Given the description of an element on the screen output the (x, y) to click on. 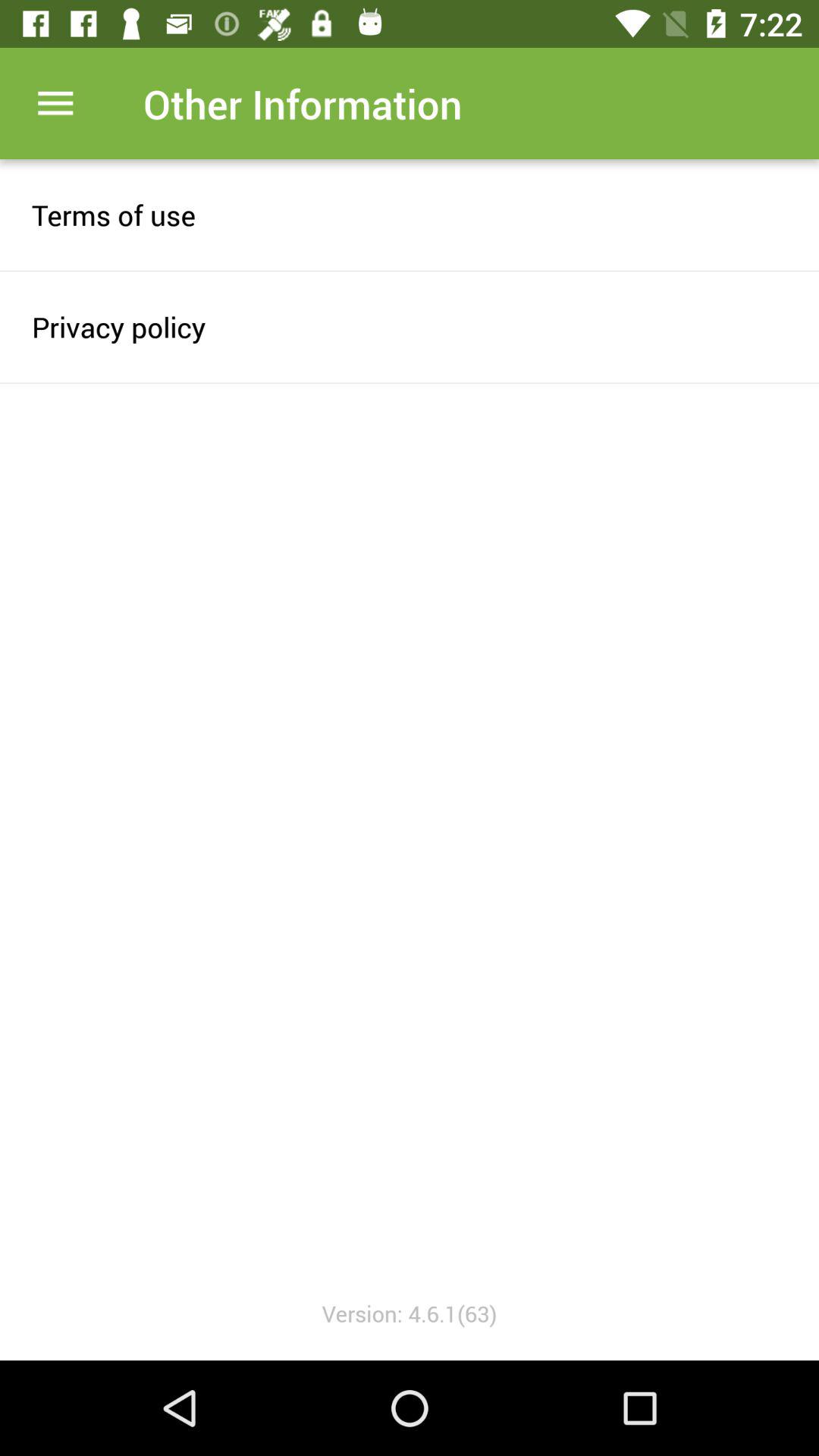
open item above the terms of use (55, 103)
